Given the description of an element on the screen output the (x, y) to click on. 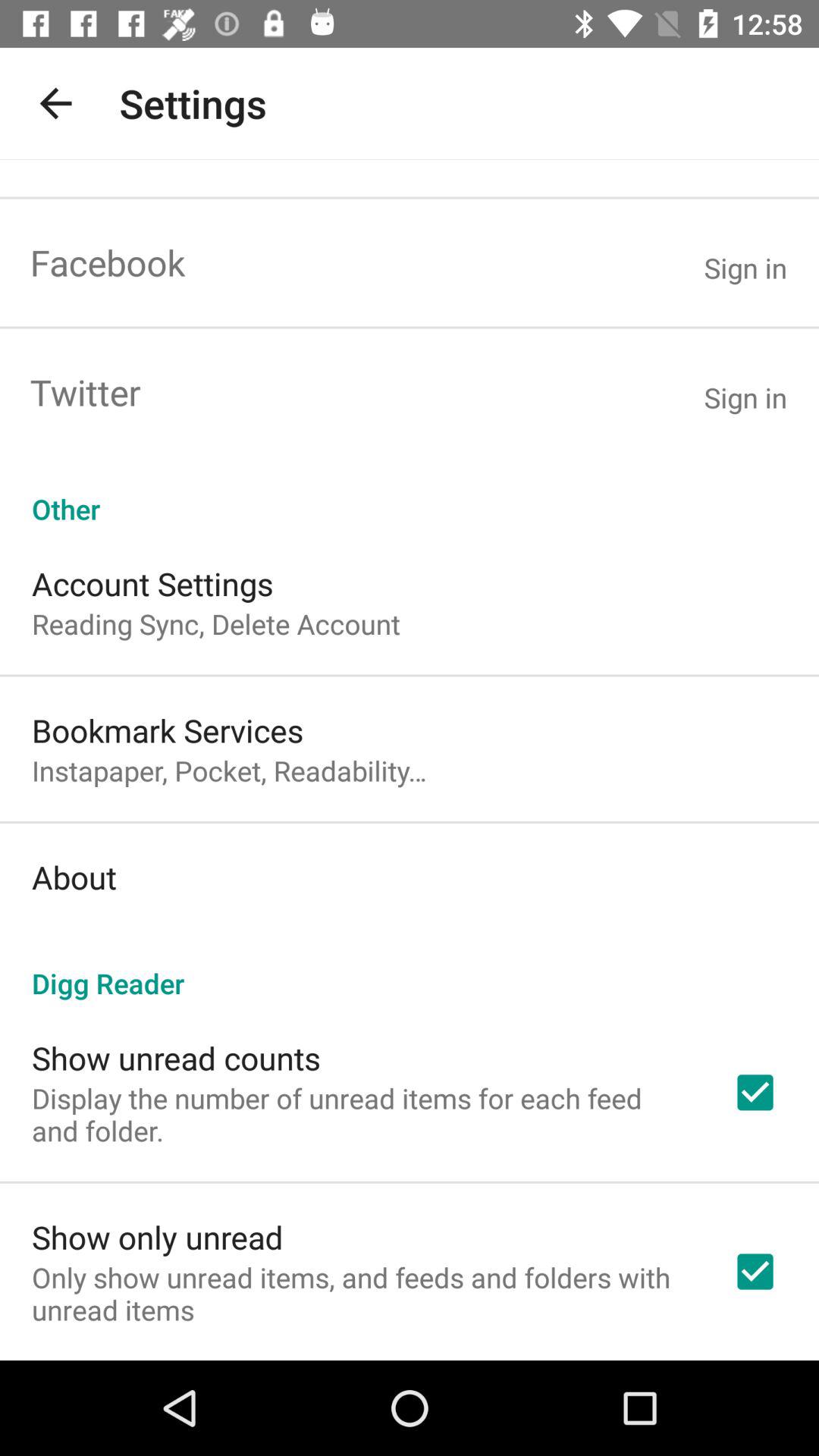
click display the number (361, 1114)
